Given the description of an element on the screen output the (x, y) to click on. 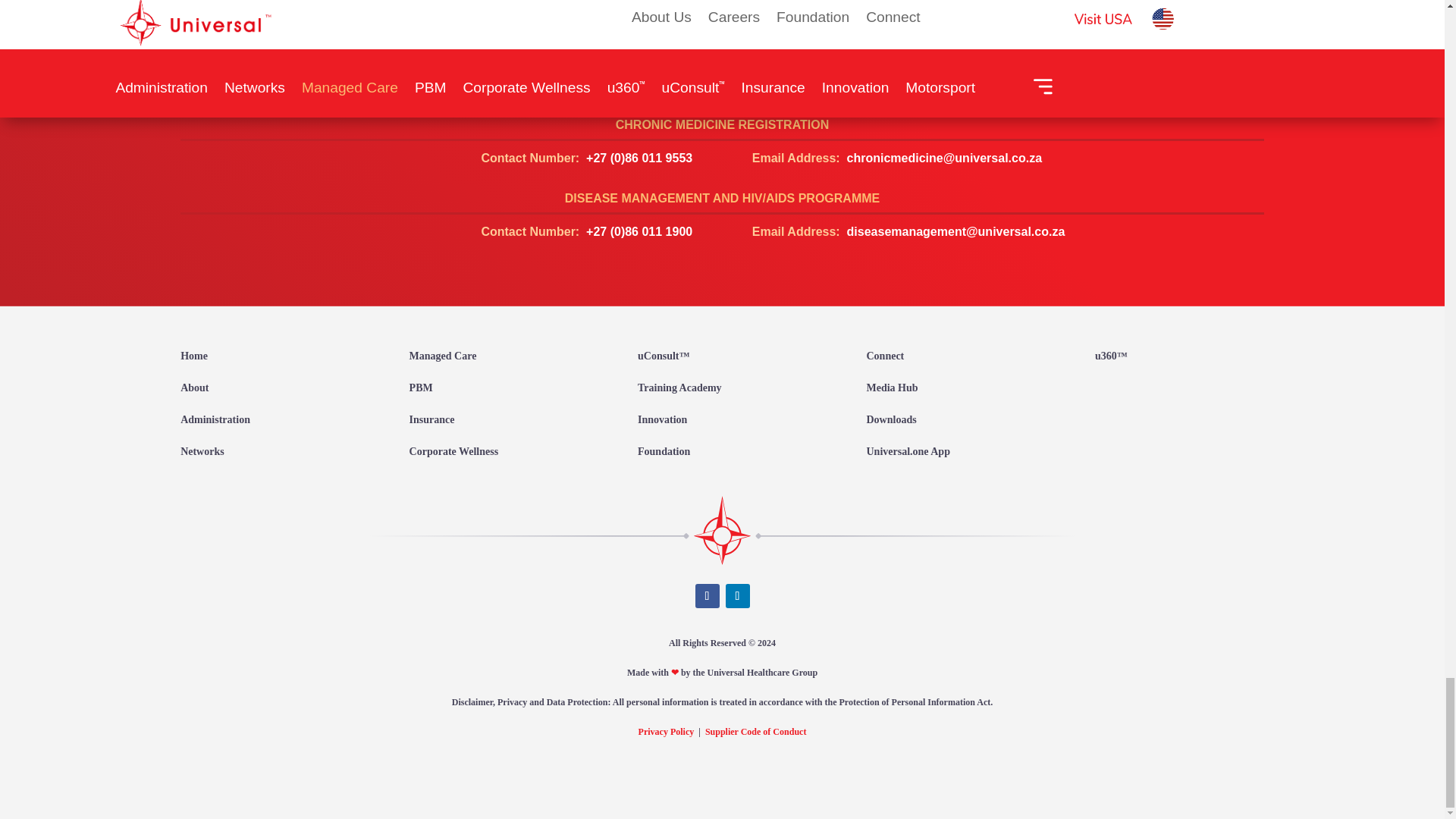
Follow on Facebook (706, 595)
Follow on LinkedIn (737, 595)
div-footer (721, 530)
